Given the description of an element on the screen output the (x, y) to click on. 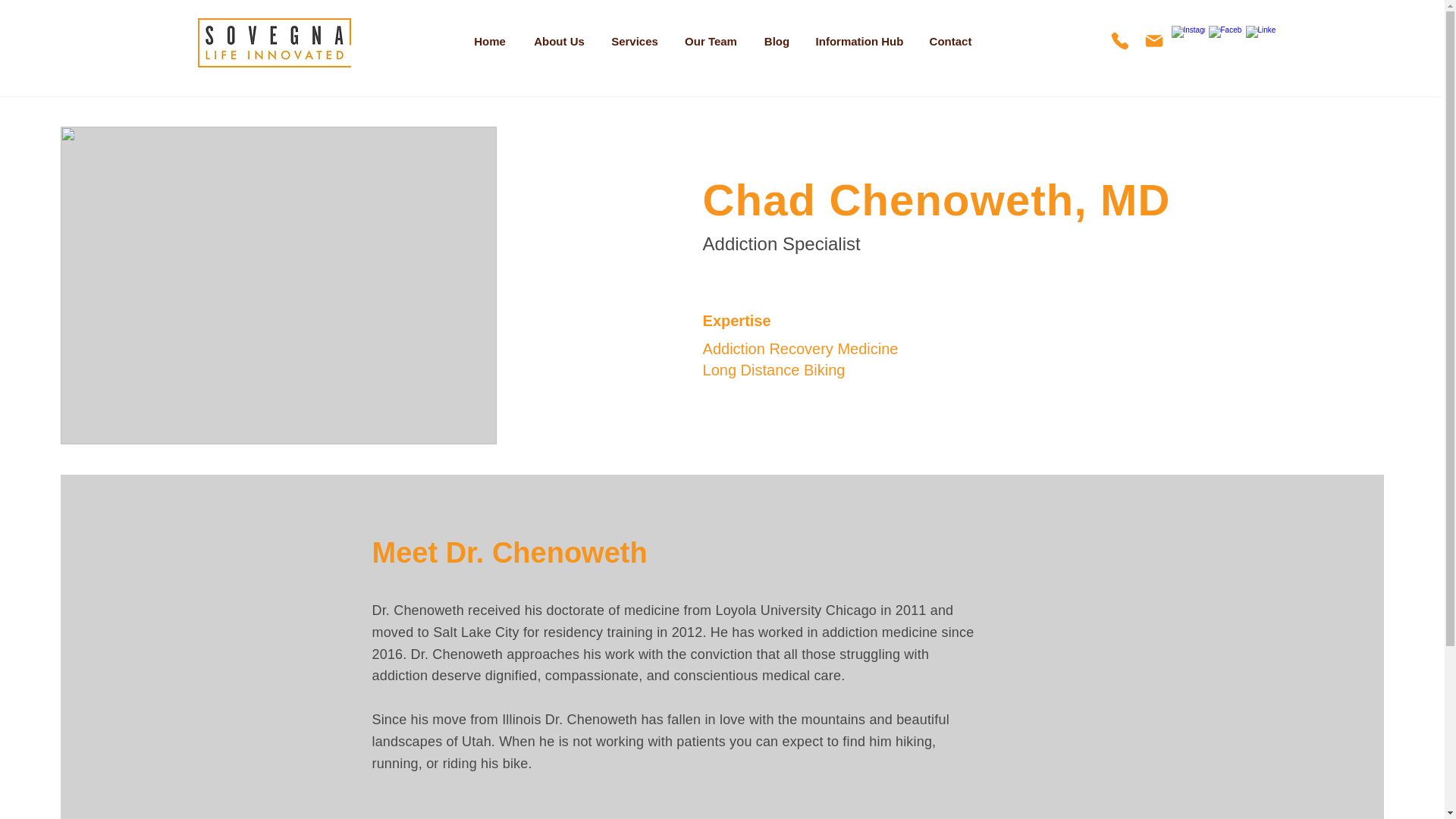
About Us (557, 41)
Our Team (711, 41)
Contact (950, 41)
Services (633, 41)
Home (490, 41)
Information Hub (859, 41)
Blog (777, 41)
